Given the description of an element on the screen output the (x, y) to click on. 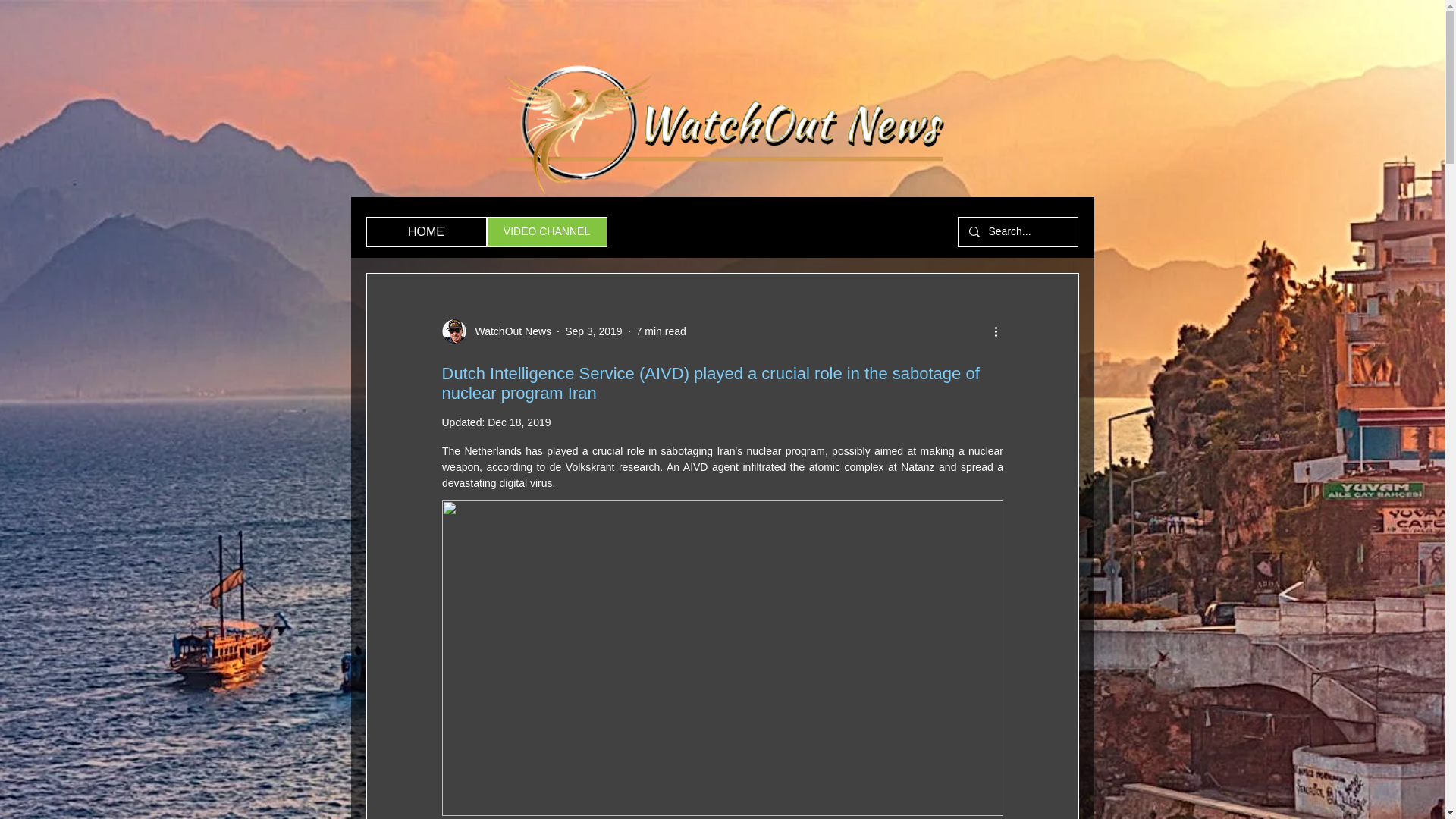
HOME (425, 232)
Sep 3, 2019 (593, 330)
VIDEO CHANNEL (546, 232)
Dec 18, 2019 (518, 422)
WatchOut News (508, 330)
7 min read (660, 330)
WatchOut News (496, 331)
